Given the description of an element on the screen output the (x, y) to click on. 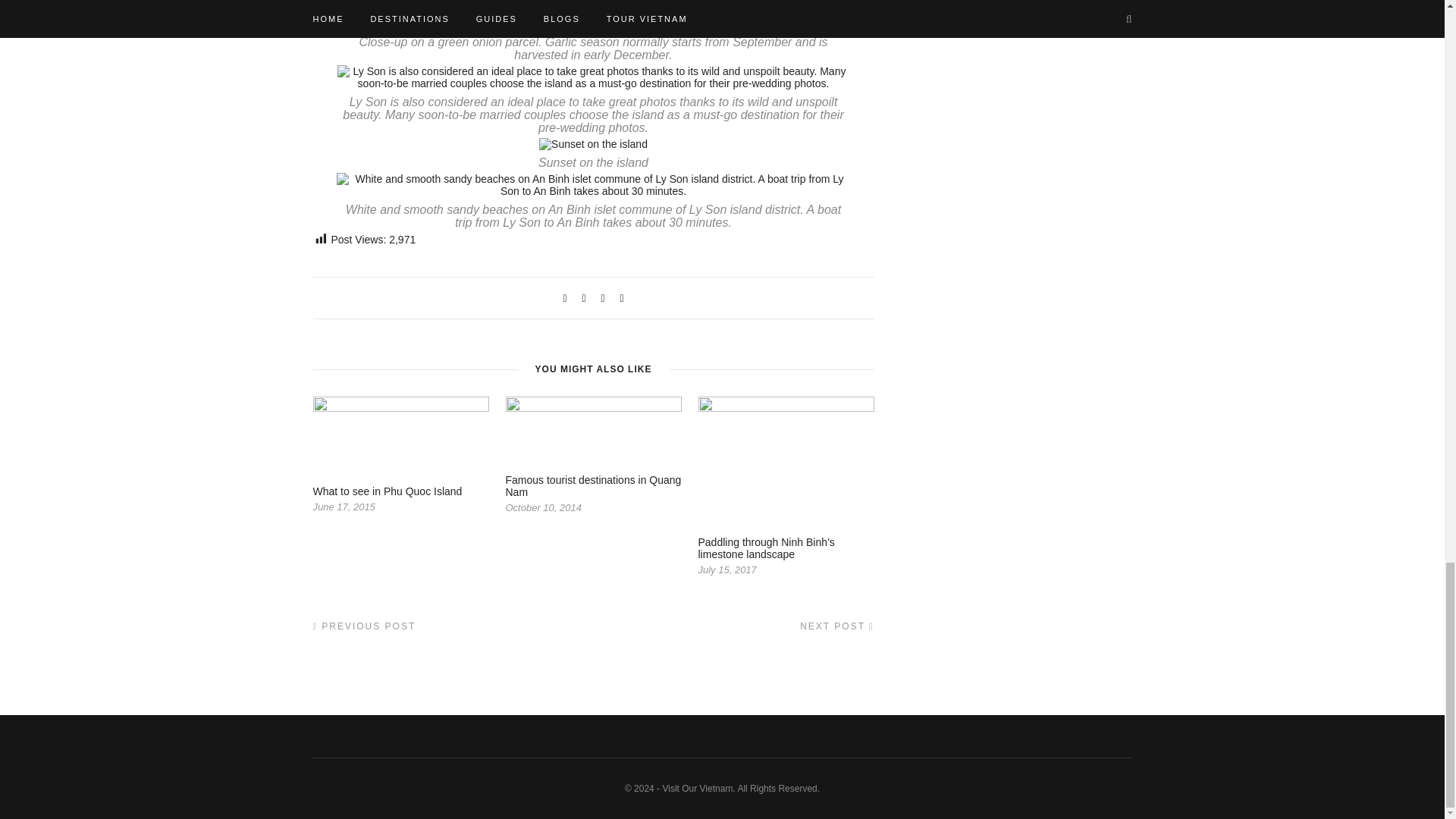
Famous tourist destinations in Quang Nam (593, 485)
What to see in Phu Quoc Island (387, 491)
NEXT POST (836, 625)
PREVIOUS POST (363, 625)
